Given the description of an element on the screen output the (x, y) to click on. 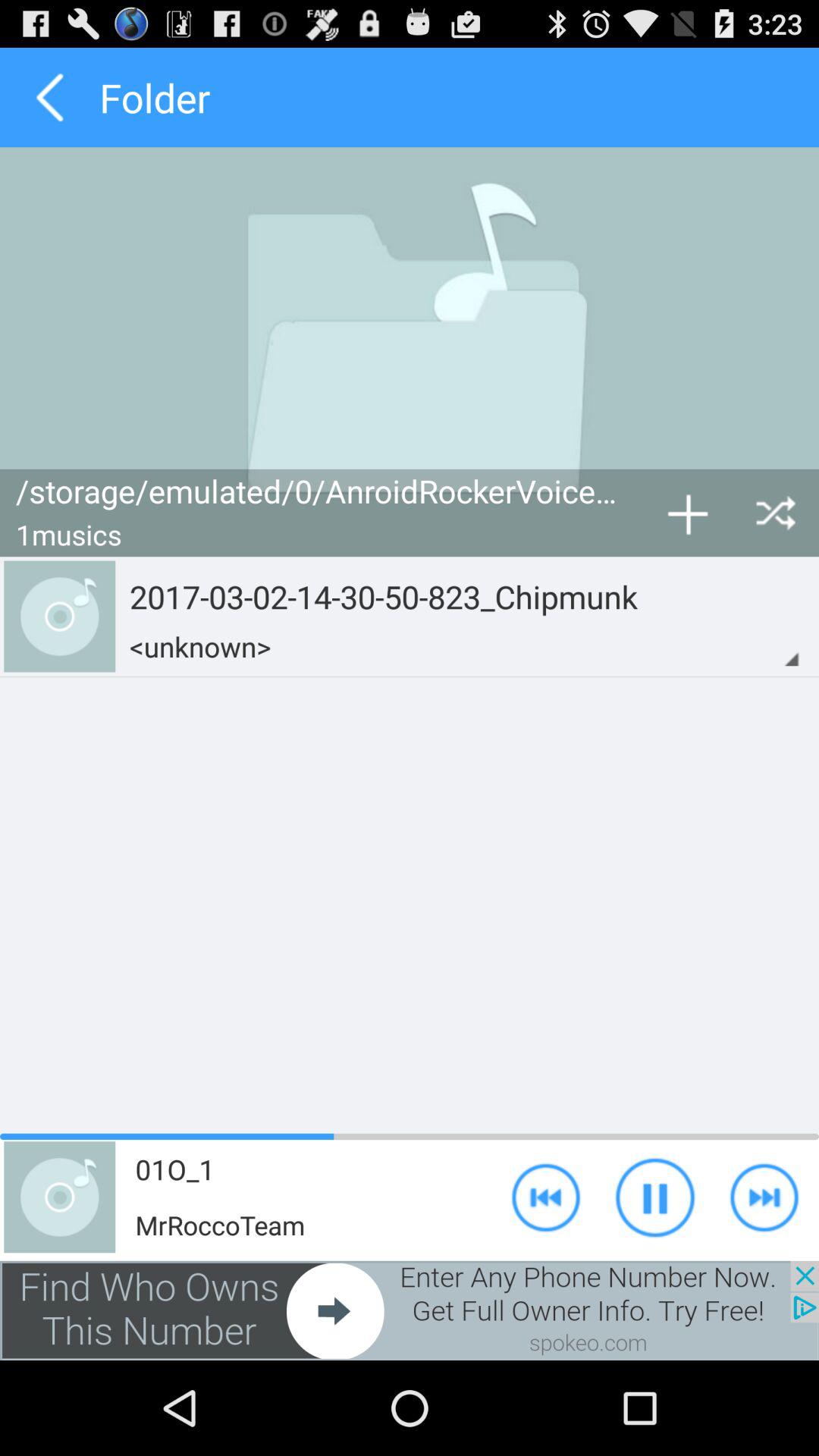
shuffle (775, 512)
